Given the description of an element on the screen output the (x, y) to click on. 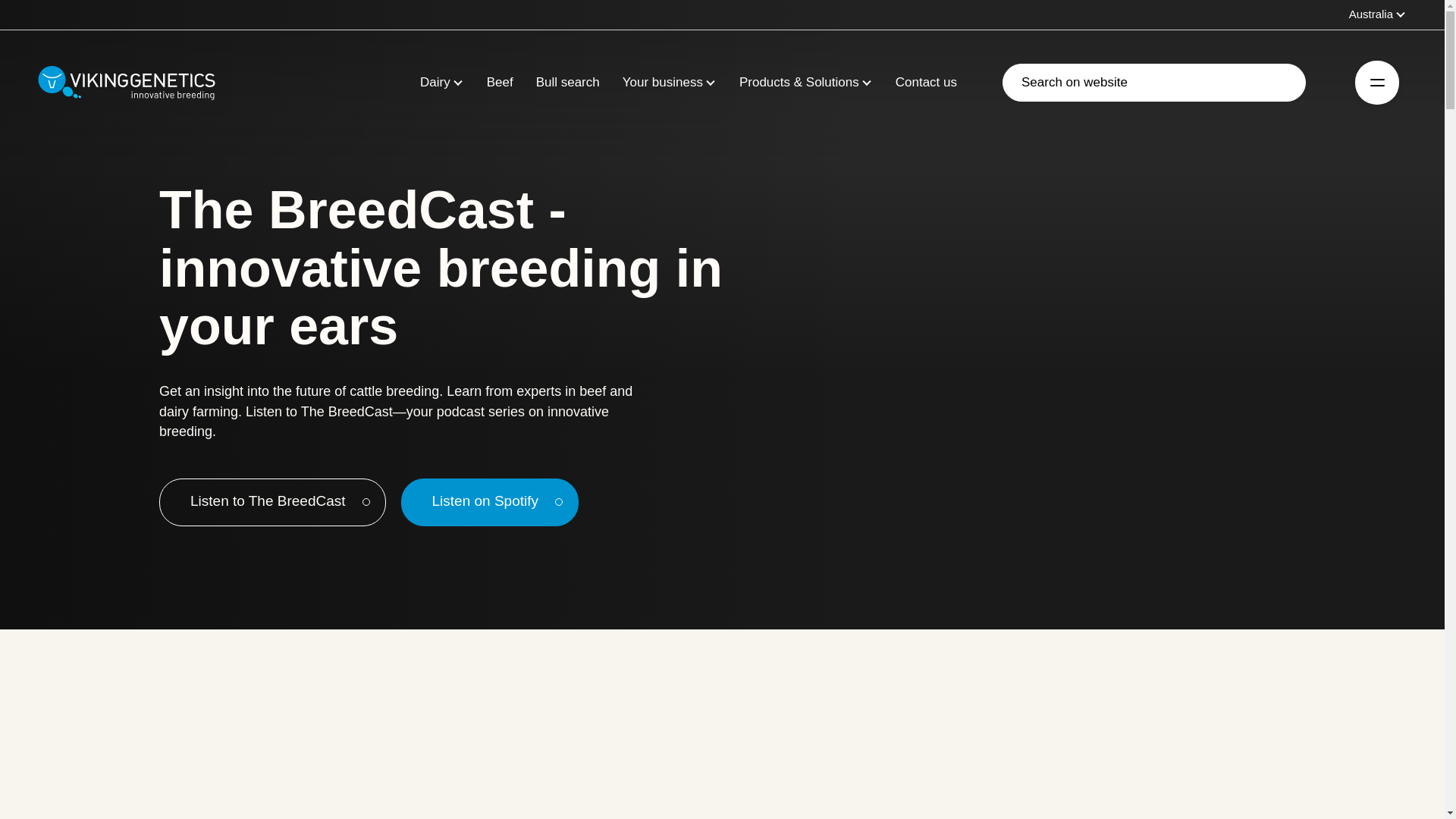
Viking Genetics - innovative breeding (126, 82)
Australia (1377, 13)
Contact us (925, 83)
Beef (499, 83)
Bull search (567, 83)
Listen on Spotify (489, 502)
Viking Genetics - innovative breeding (126, 82)
Listen to The BreedCast (271, 502)
Your business (663, 83)
Dairy (434, 83)
